Given the description of an element on the screen output the (x, y) to click on. 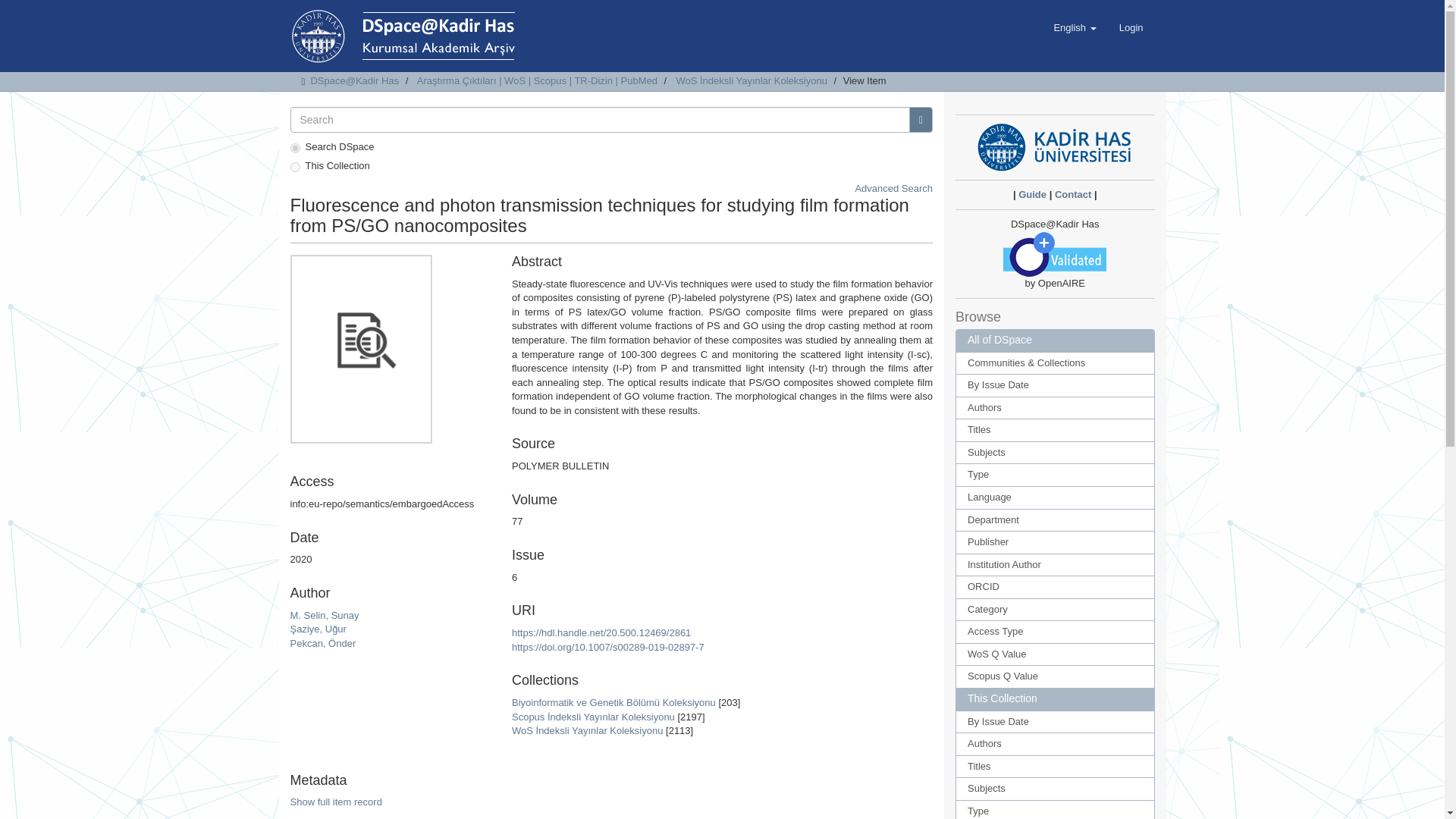
Go (920, 119)
Guide (1031, 194)
Contact (1072, 194)
M. Selin, Sunay (323, 614)
Login (1131, 27)
Advanced Search (893, 188)
English  (1074, 27)
Show full item record (335, 801)
